Given the description of an element on the screen output the (x, y) to click on. 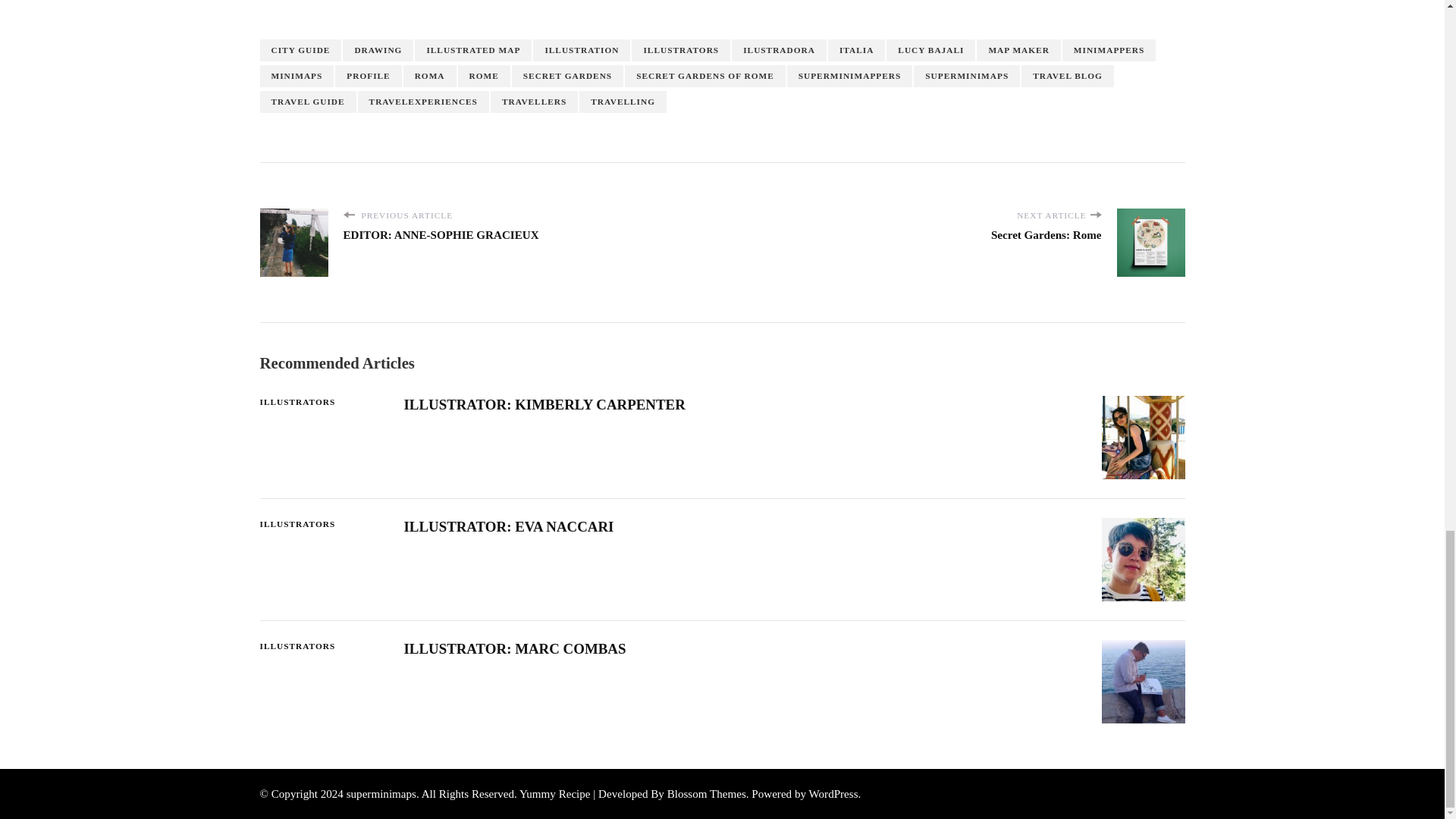
SUPERMINIMAPS (967, 75)
PROFILE (367, 75)
MINIMAPS (296, 75)
MINIMAPPERS (1109, 50)
SUPERMINIMAPPERS (849, 75)
DRAWING (377, 50)
ILLUSTRATION (581, 50)
ROMA (430, 75)
ILUSTRADORA (779, 50)
CITY GUIDE (299, 50)
SECRET GARDENS (567, 75)
SECRET GARDENS OF ROME (705, 75)
MAP MAKER (1017, 50)
ITALIA (856, 50)
ILLUSTRATED MAP (472, 50)
